Given the description of an element on the screen output the (x, y) to click on. 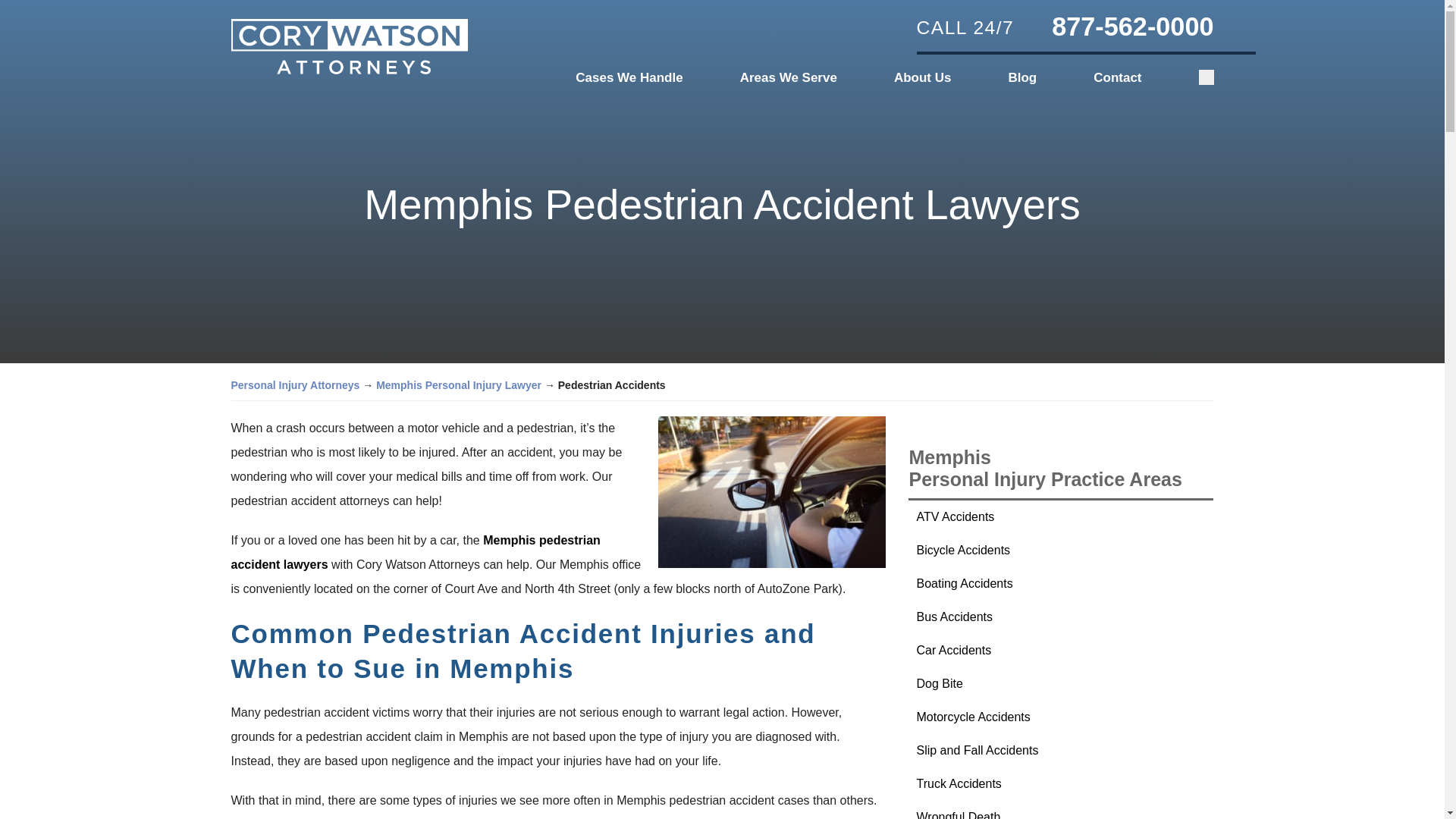
About Us (922, 77)
Contact (1117, 77)
Cory Watson Attorneys (348, 46)
Memphis Personal Injury Lawyer (458, 385)
Areas We Serve (788, 77)
Call to Cory Watson Attorneys (1117, 26)
877-562-0000 (1117, 26)
Blog (1021, 77)
Personal Injury Attorneys (294, 385)
Cases We Handle (628, 77)
